Given the description of an element on the screen output the (x, y) to click on. 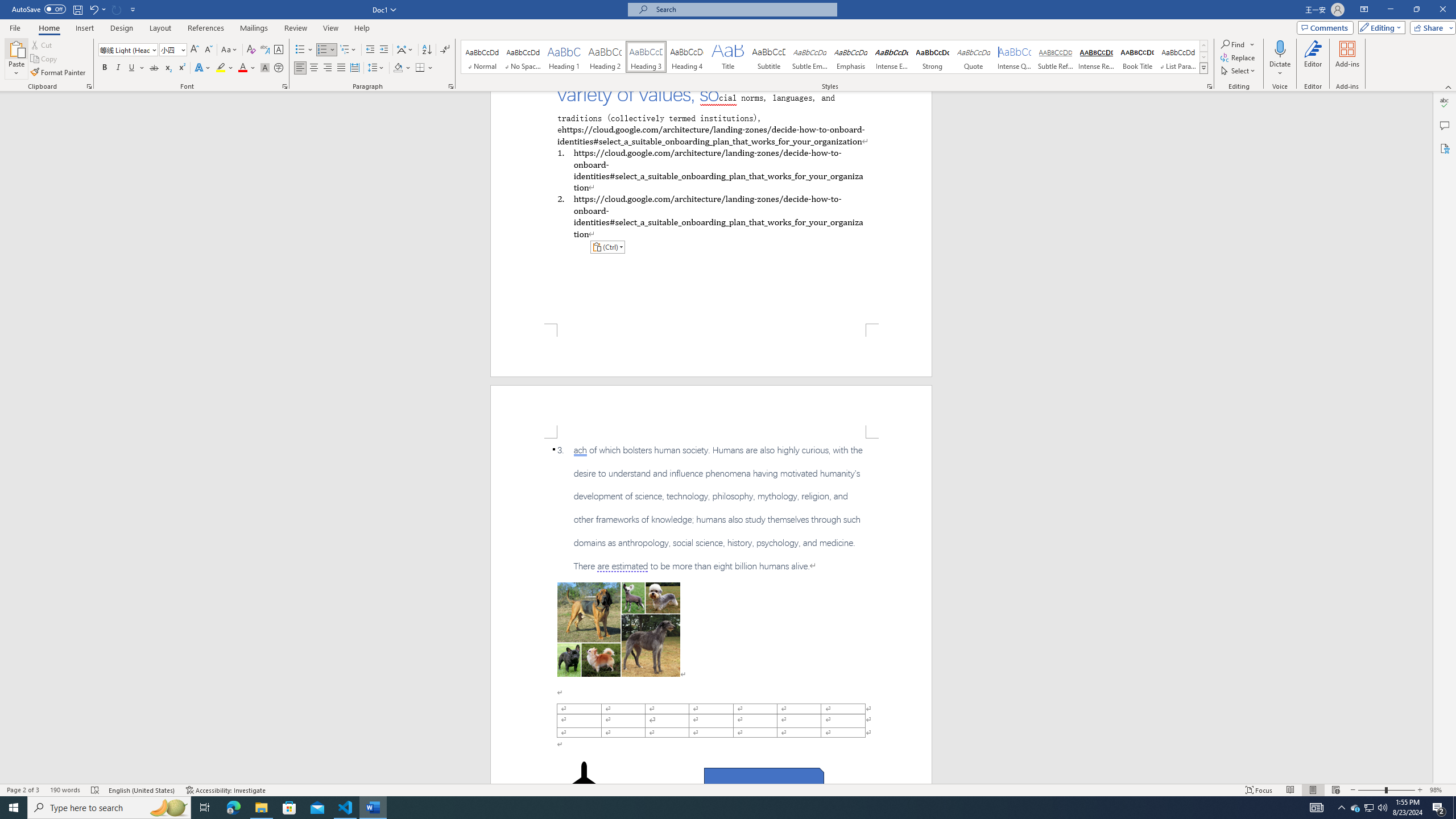
Accessibility Checker Accessibility: Investigate (226, 790)
Book Title (1136, 56)
Page 2 content (710, 610)
Enclose Characters... (278, 67)
Center (313, 67)
Editing (1379, 27)
Intense Quote (1014, 56)
